Given the description of an element on the screen output the (x, y) to click on. 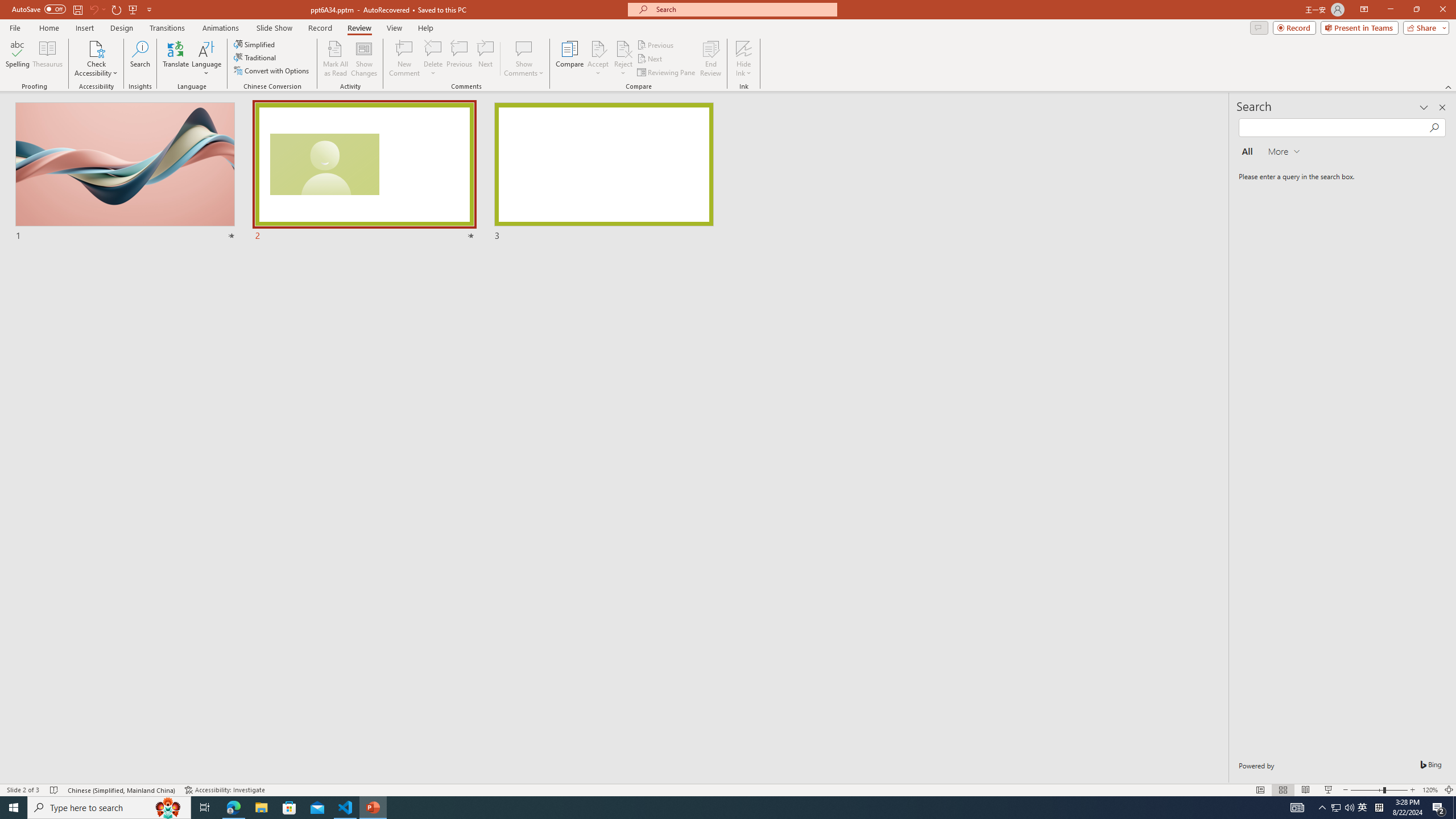
Simplified (254, 44)
Accept Change (598, 48)
